Given the description of an element on the screen output the (x, y) to click on. 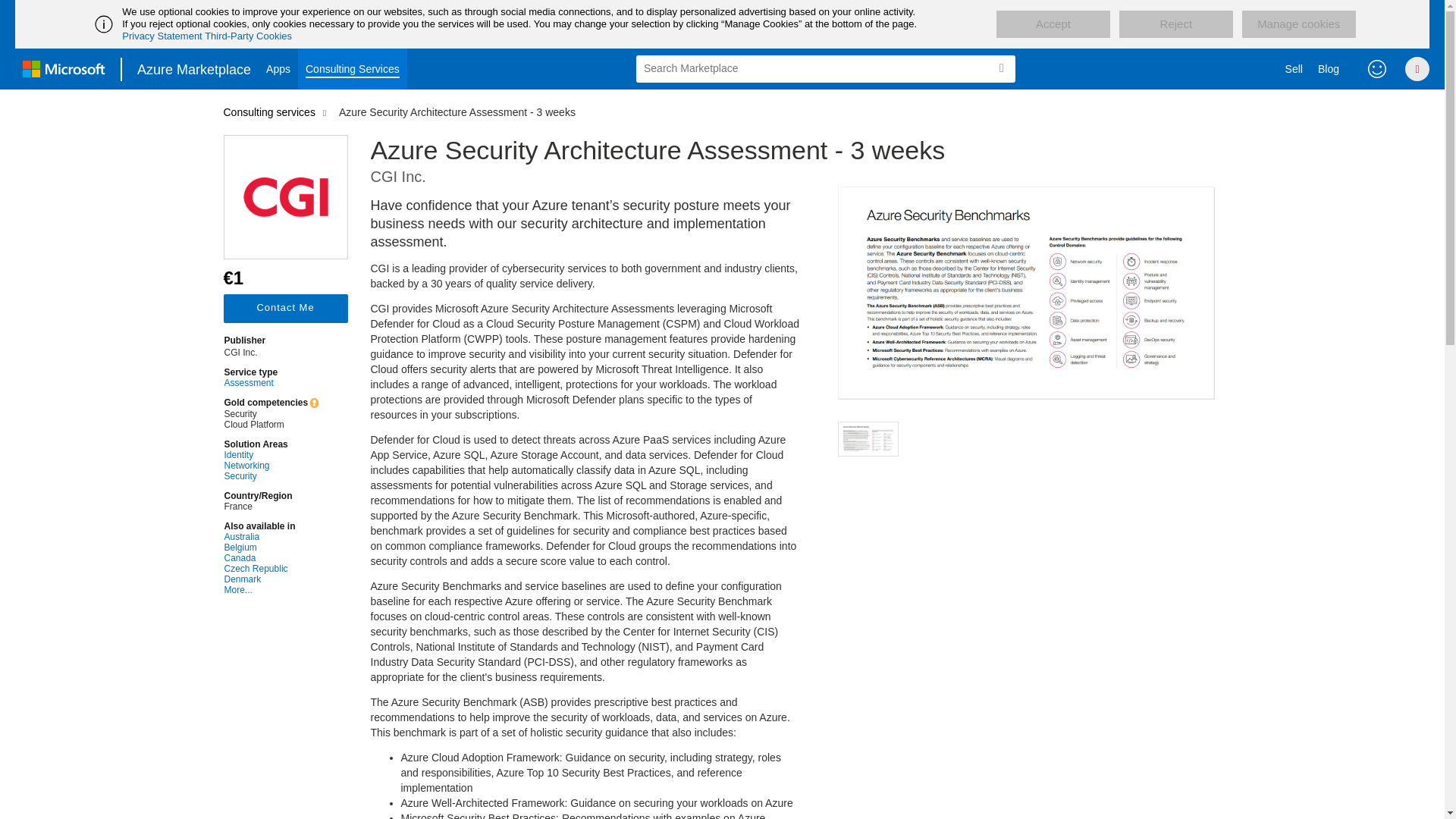
Search (1001, 68)
Third-Party Cookies (248, 35)
Search  (1001, 68)
Blog (1328, 68)
Azure Marketplace (194, 68)
Manage cookies (1298, 23)
Reject (1176, 23)
Accept (1052, 23)
Privacy Statement (162, 35)
Feedback (1377, 68)
Apps (278, 68)
Consulting Services (352, 68)
